Given the description of an element on the screen output the (x, y) to click on. 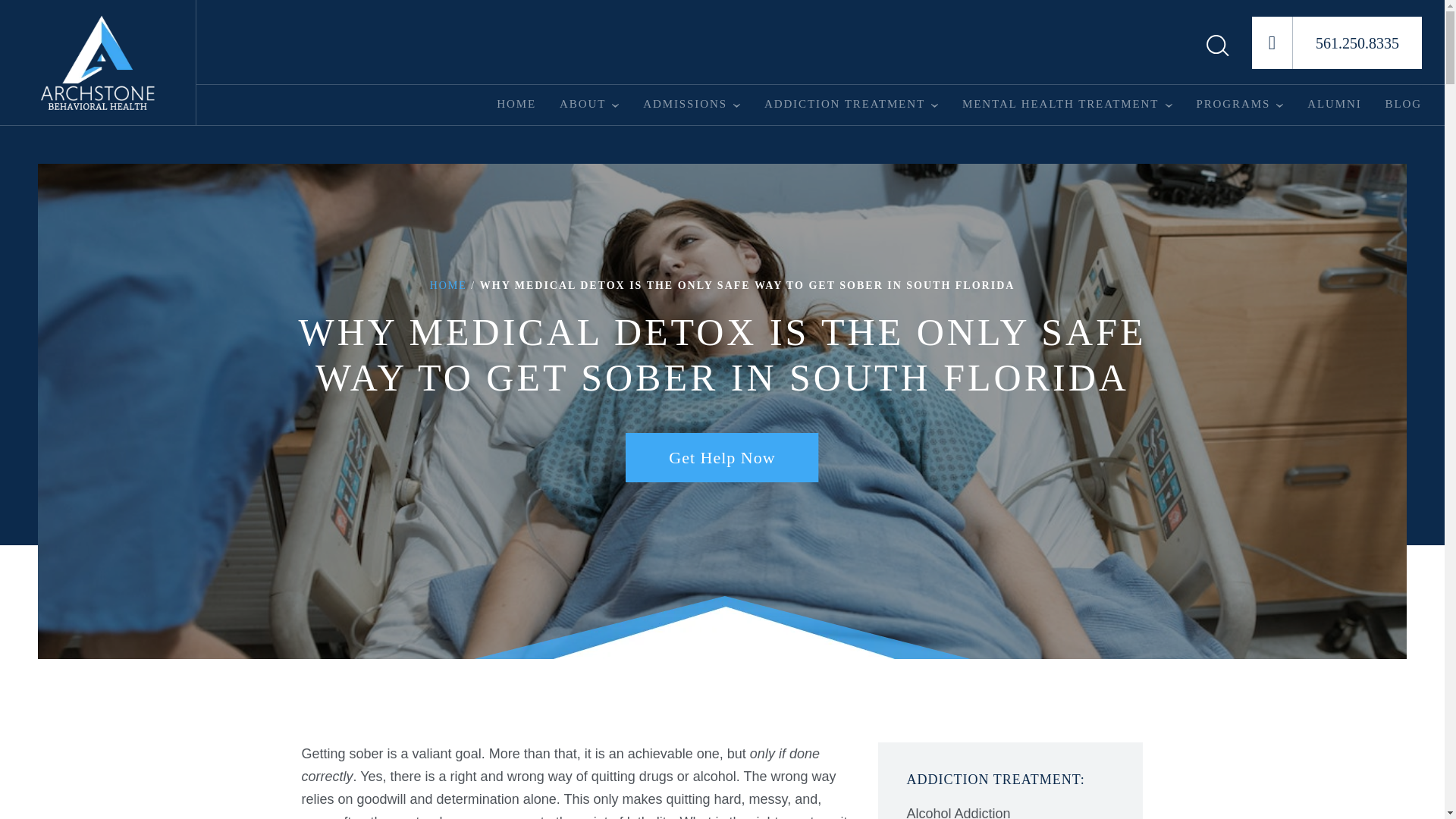
MENTAL HEALTH TREATMENT (1060, 103)
561.250.8335 (1337, 42)
ABOUT (582, 103)
HOME (515, 103)
ADMISSIONS (684, 103)
PROGRAMS (1232, 103)
ADDICTION TREATMENT (844, 103)
